Given the description of an element on the screen output the (x, y) to click on. 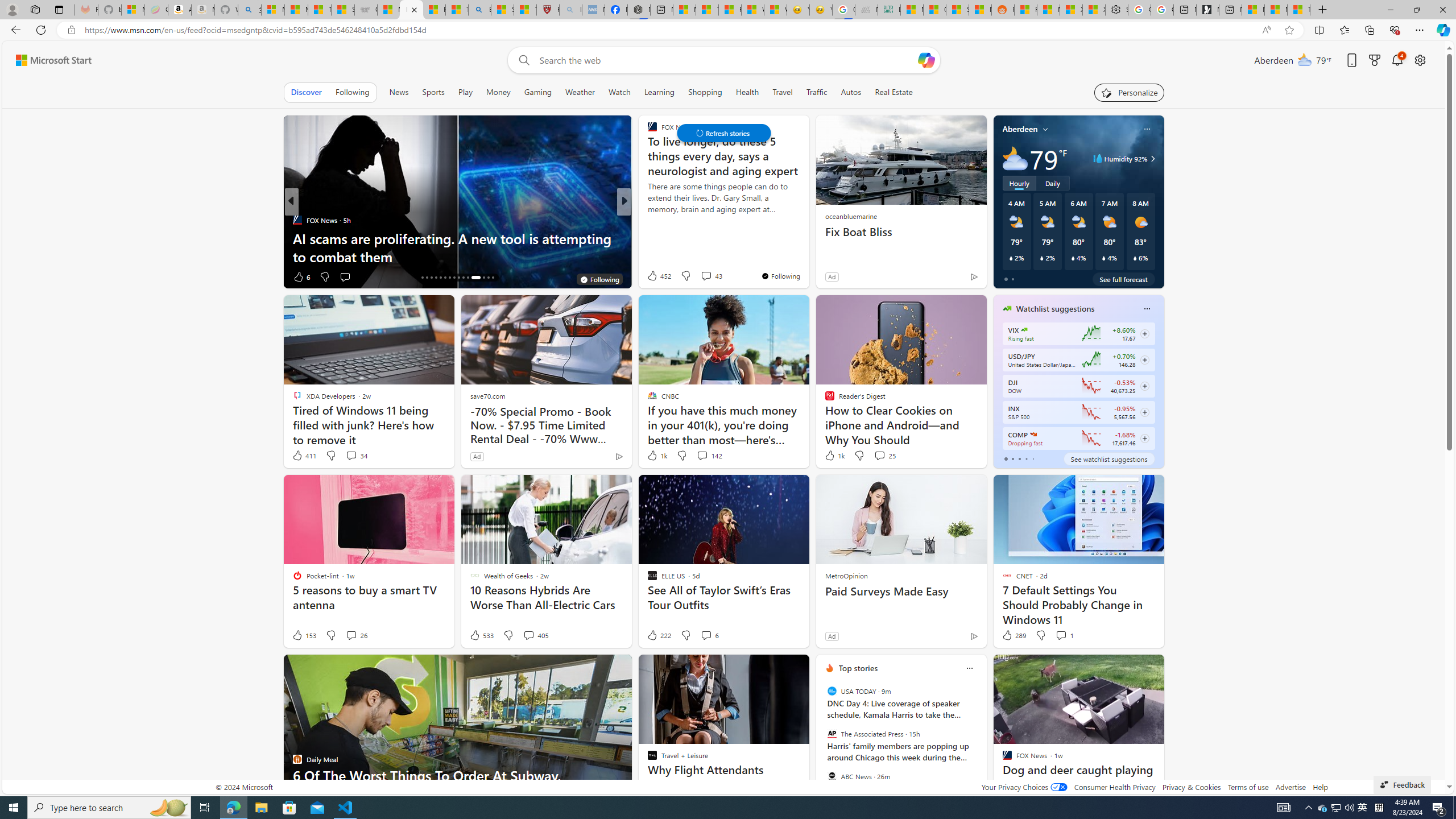
View comments 197 Comment (709, 276)
AutomationID: tab-26 (467, 277)
View comments 26 Comment (355, 634)
AutomationID: tab-19 (435, 277)
FOX News (296, 219)
Fitness - MSN (729, 9)
